Given the description of an element on the screen output the (x, y) to click on. 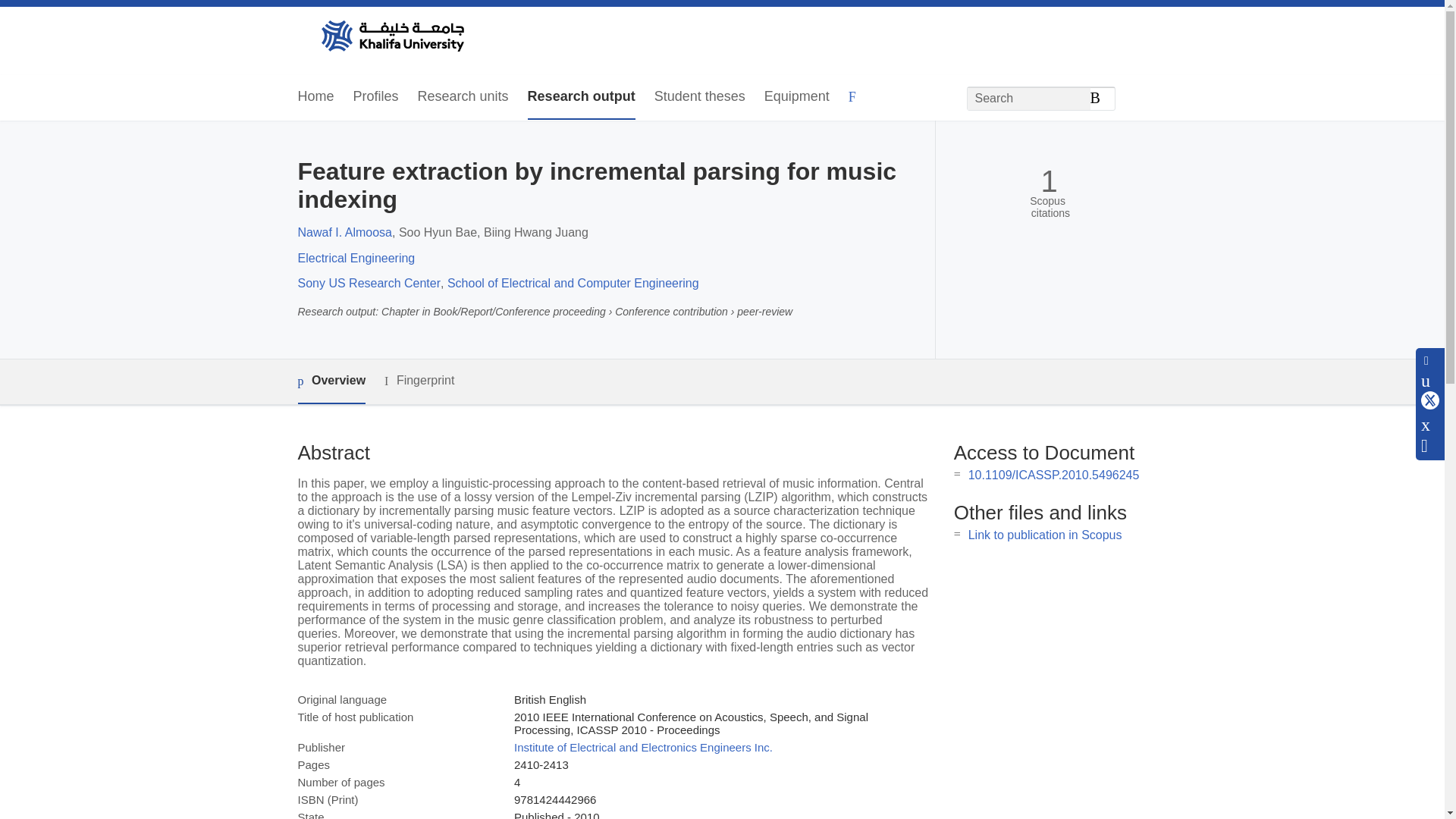
Electrical Engineering (355, 257)
Fingerprint (419, 380)
Research output (580, 97)
Overview (331, 381)
Institute of Electrical and Electronics Engineers Inc. (643, 747)
Khalifa University Home (391, 37)
Research units (462, 97)
Sony US Research Center (369, 282)
Profiles (375, 97)
